Given the description of an element on the screen output the (x, y) to click on. 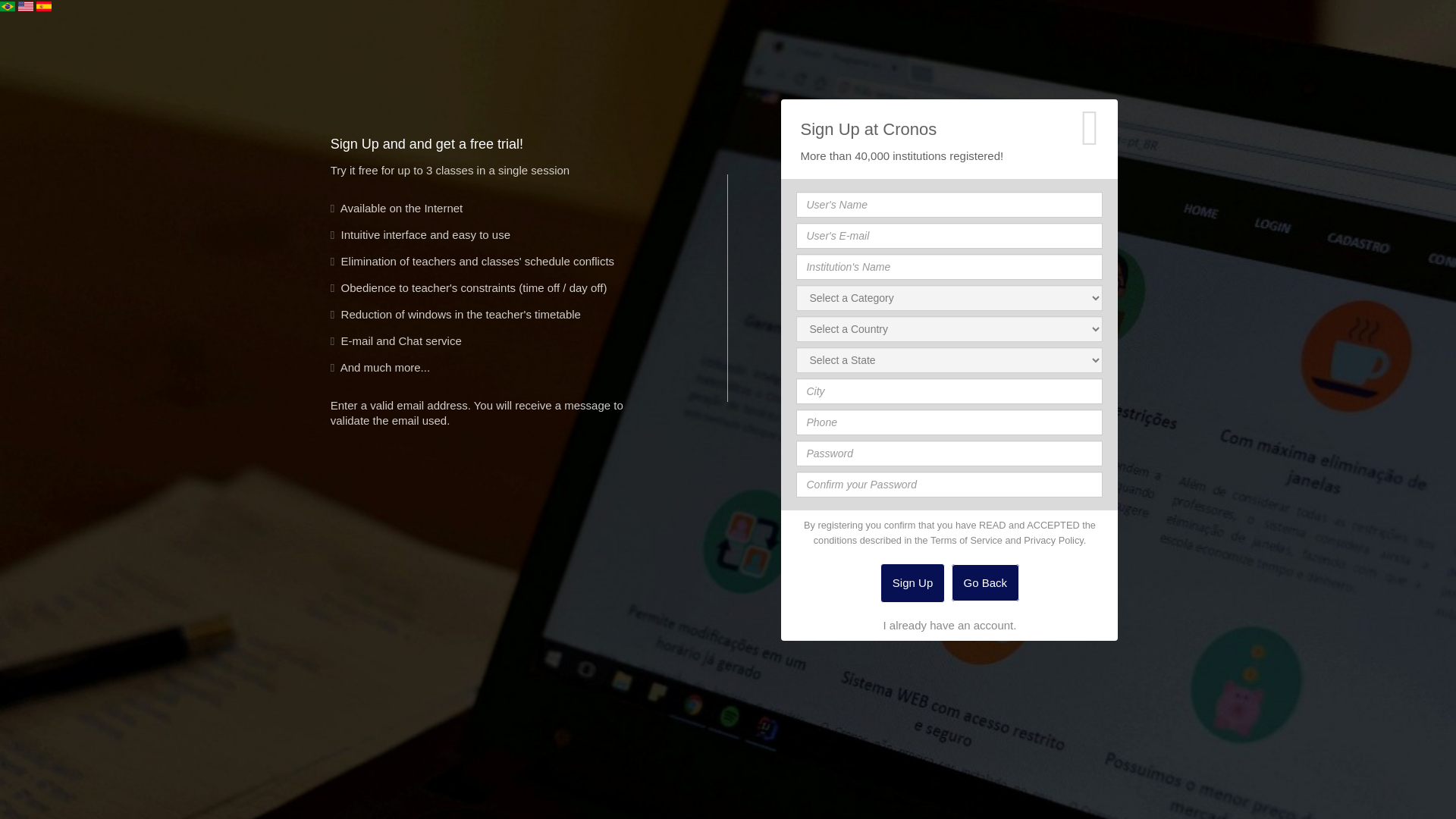
Sign Up (912, 582)
Sign Up (912, 582)
I already have an account. (949, 625)
Go Back (986, 582)
